Given the description of an element on the screen output the (x, y) to click on. 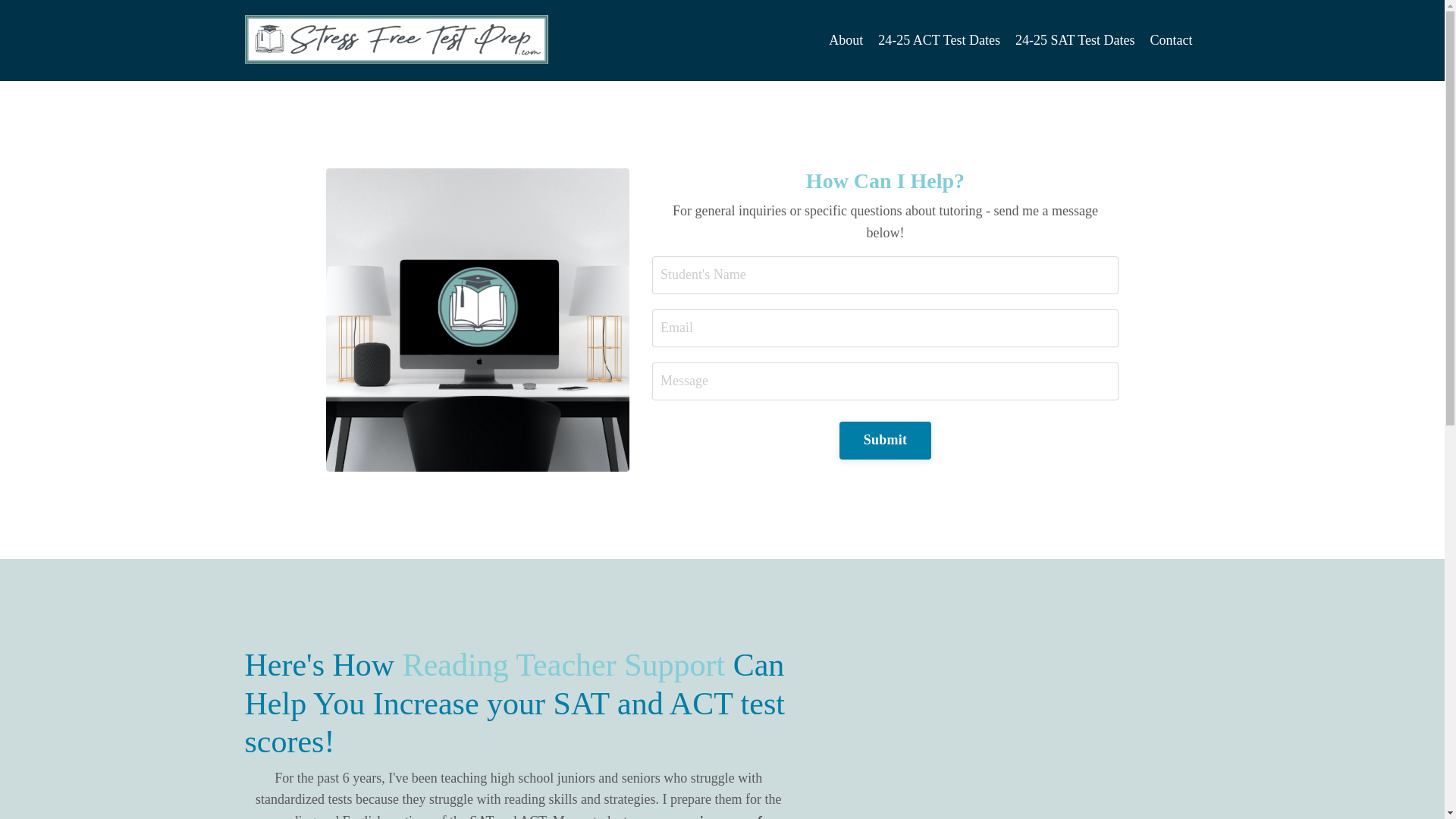
Submit (885, 440)
24-25 ACT Test Dates (938, 40)
Contact (1171, 40)
24-25 SAT Test Dates (1074, 40)
About (845, 40)
